Given the description of an element on the screen output the (x, y) to click on. 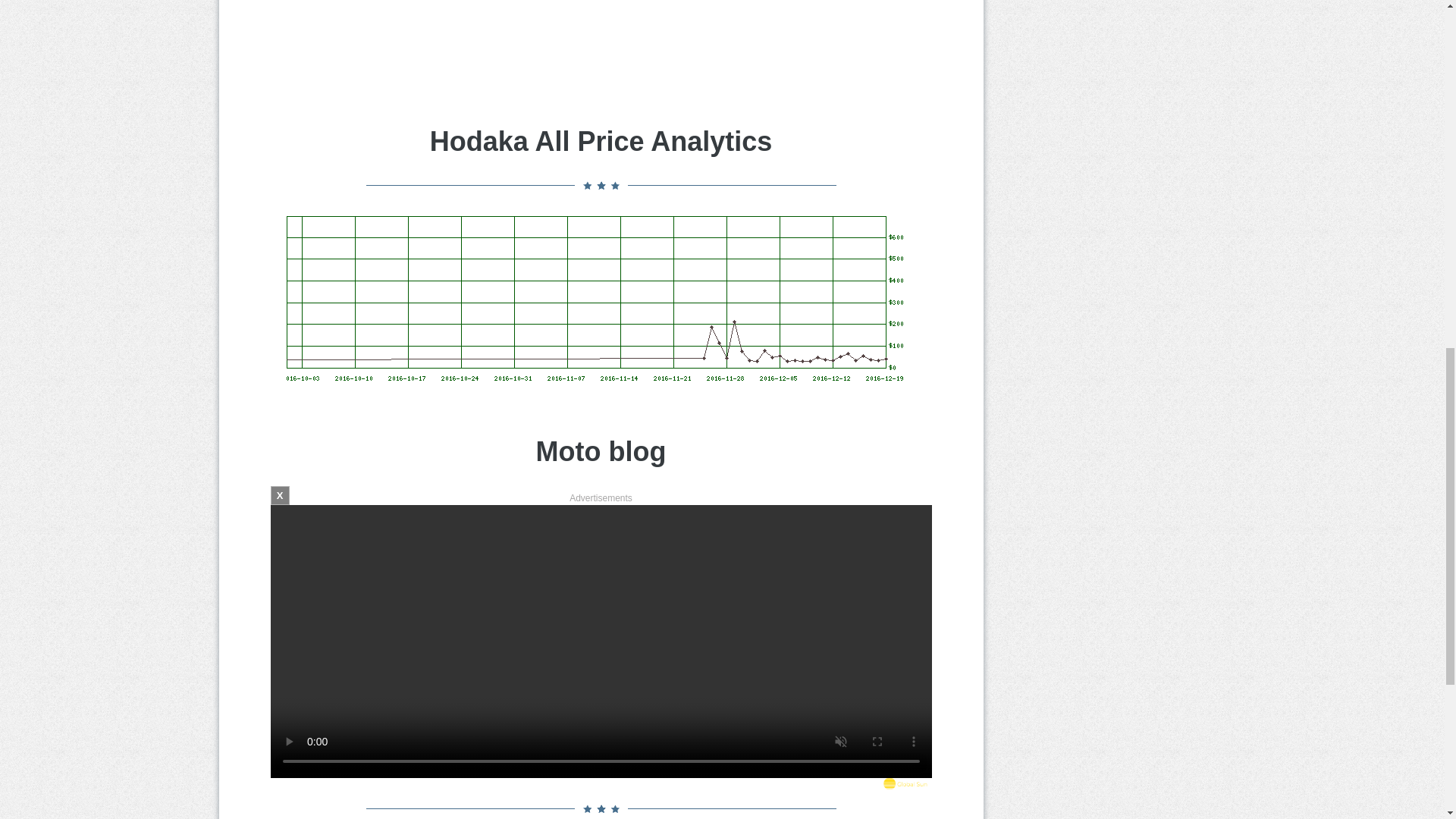
X (278, 495)
Advertisement (600, 38)
